Given the description of an element on the screen output the (x, y) to click on. 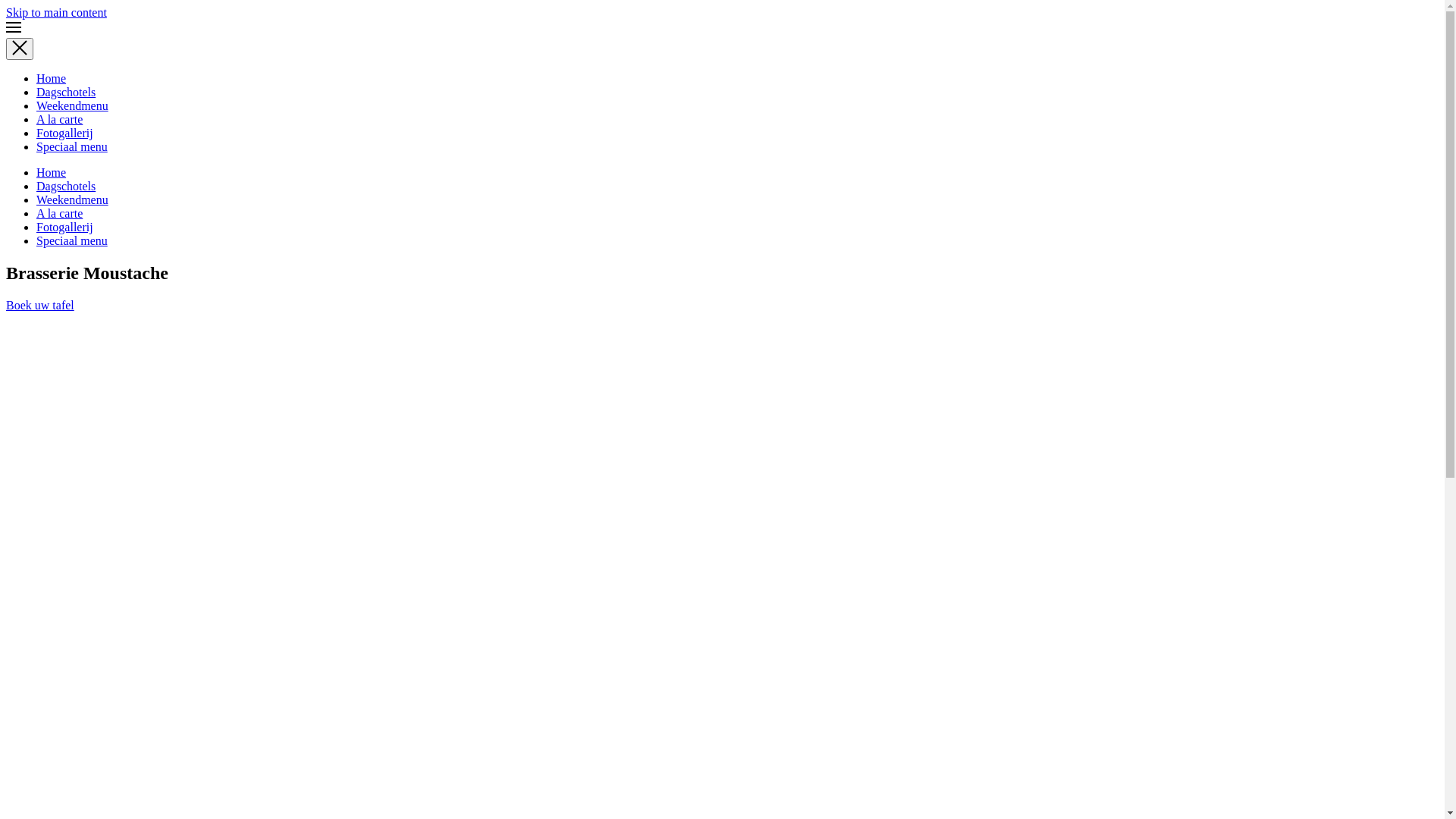
Dagschotels Element type: text (65, 91)
Home Element type: text (50, 78)
A la carte Element type: text (59, 213)
Weekendmenu Element type: text (72, 199)
Weekendmenu Element type: text (72, 105)
A la carte Element type: text (59, 118)
Fotogallerij Element type: text (64, 226)
Speciaal menu Element type: text (71, 146)
Dagschotels Element type: text (65, 185)
Speciaal menu Element type: text (71, 240)
Home Element type: text (50, 172)
Skip to main content Element type: text (56, 12)
Fotogallerij Element type: text (64, 132)
Boek uw tafel Element type: text (40, 304)
